Given the description of an element on the screen output the (x, y) to click on. 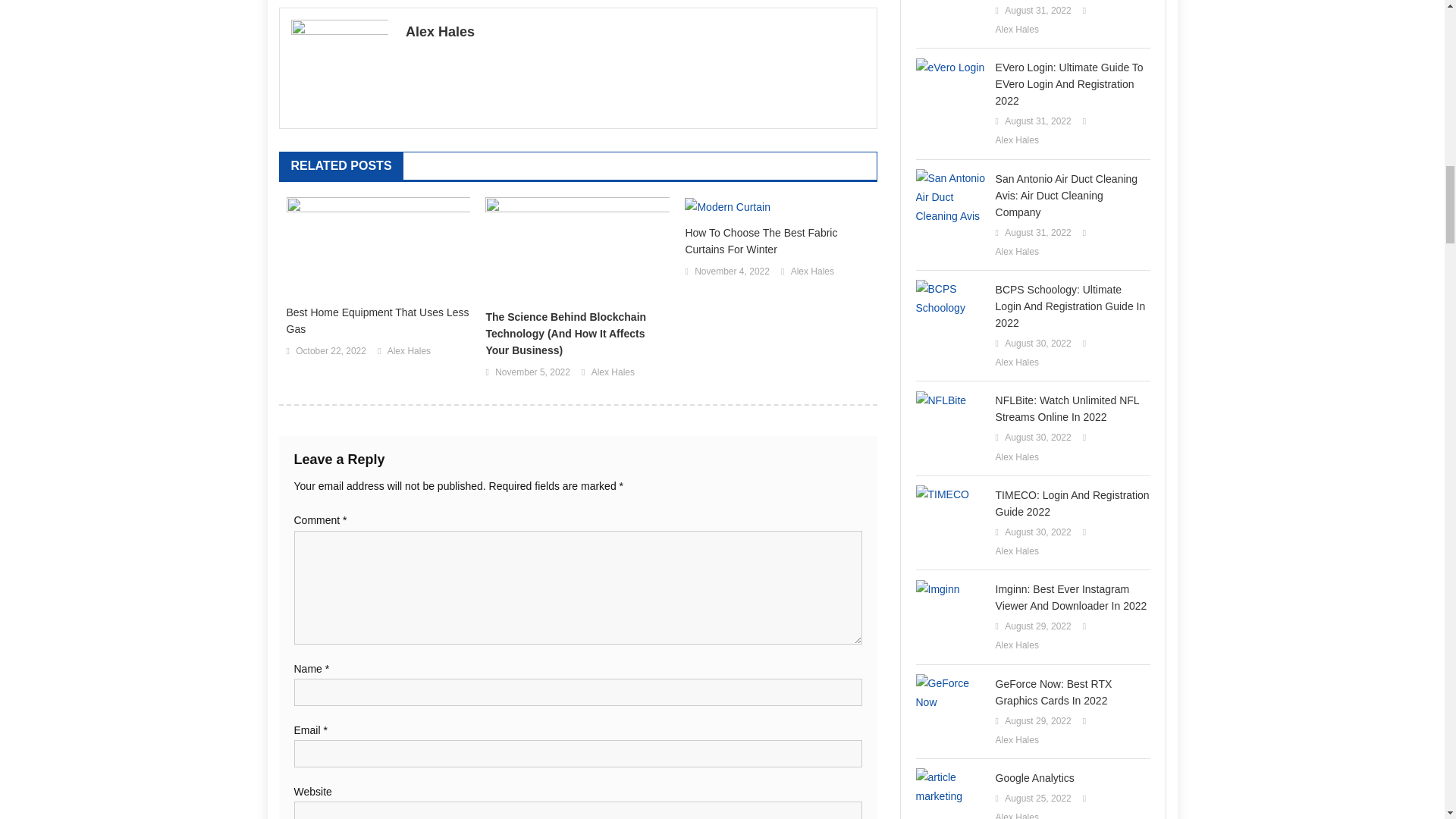
Alex Hales (408, 351)
Best Home Equipment That Uses Less Gas (378, 320)
October 22, 2022 (330, 351)
Alex Hales (635, 31)
